Given the description of an element on the screen output the (x, y) to click on. 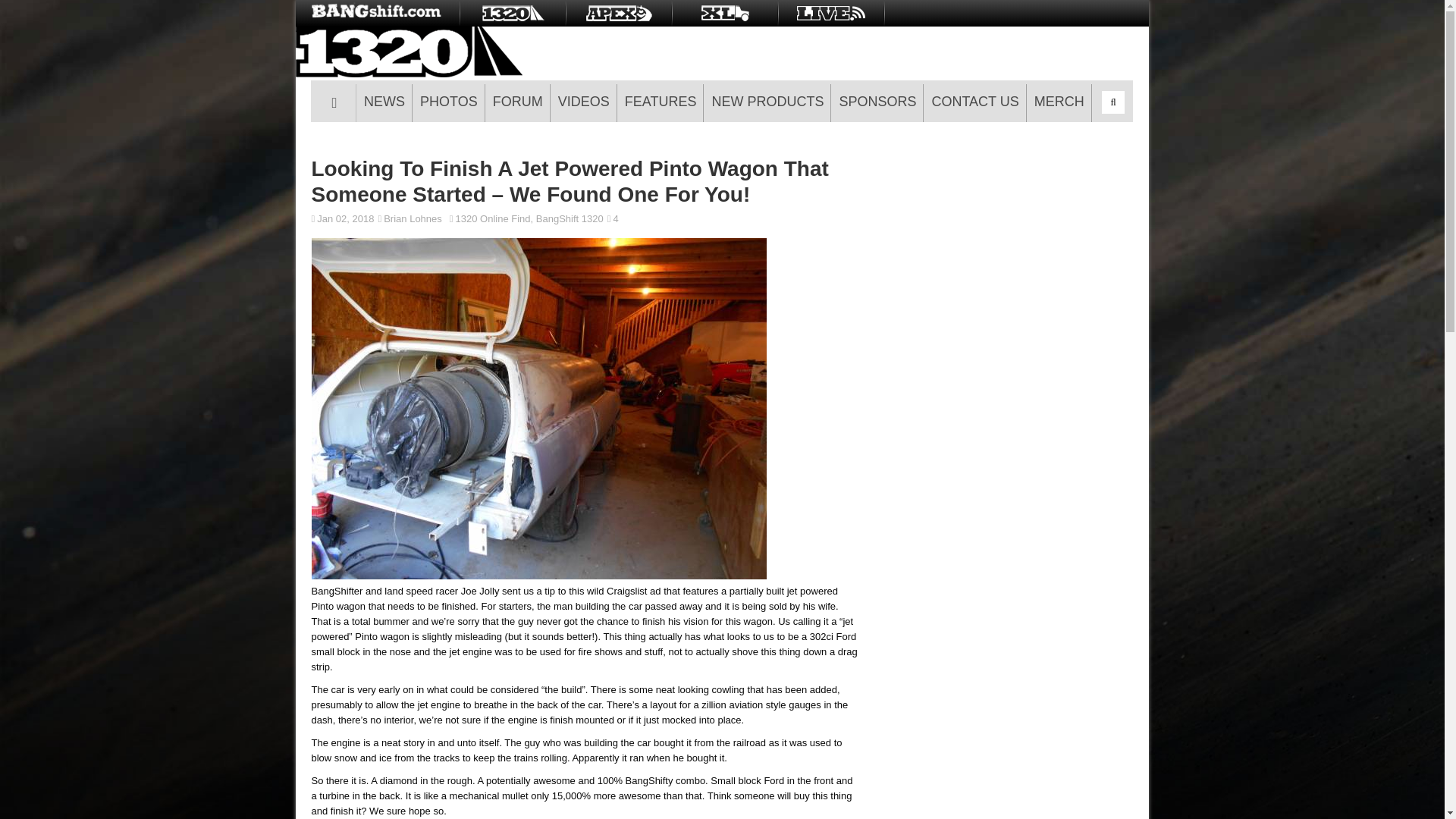
BangShiftAPEX (618, 13)
Posts by Brian Lohnes (413, 218)
NEWS (384, 103)
BangShiftXL (724, 13)
BangShift.com (377, 13)
BangShift1320 (512, 13)
PHOTOS (448, 103)
LIVE (831, 13)
